Given the description of an element on the screen output the (x, y) to click on. 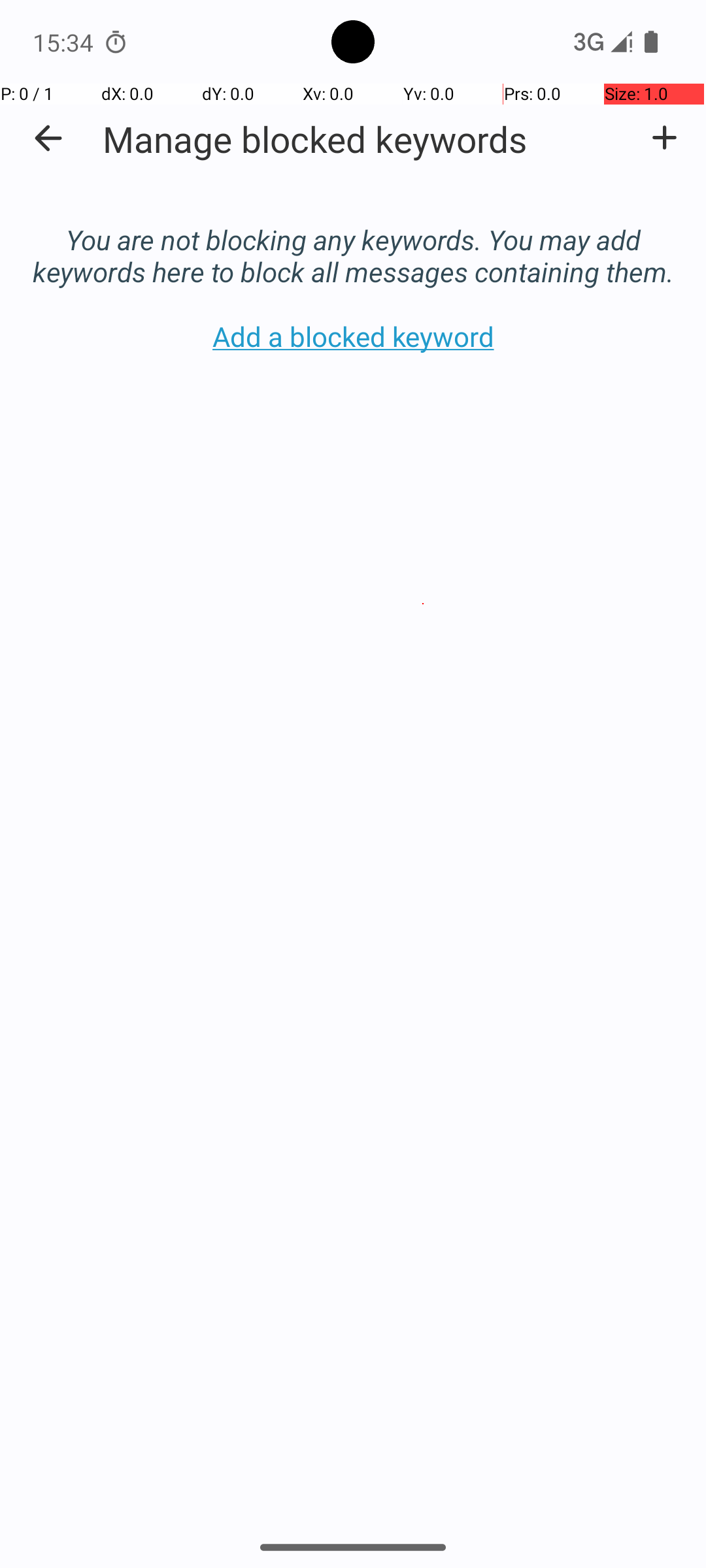
Add a blocked keyword Element type: android.widget.Button (664, 137)
You are not blocking any keywords. You may add keywords here to block all messages containing them. Element type: android.widget.TextView (353, 241)
